Given the description of an element on the screen output the (x, y) to click on. 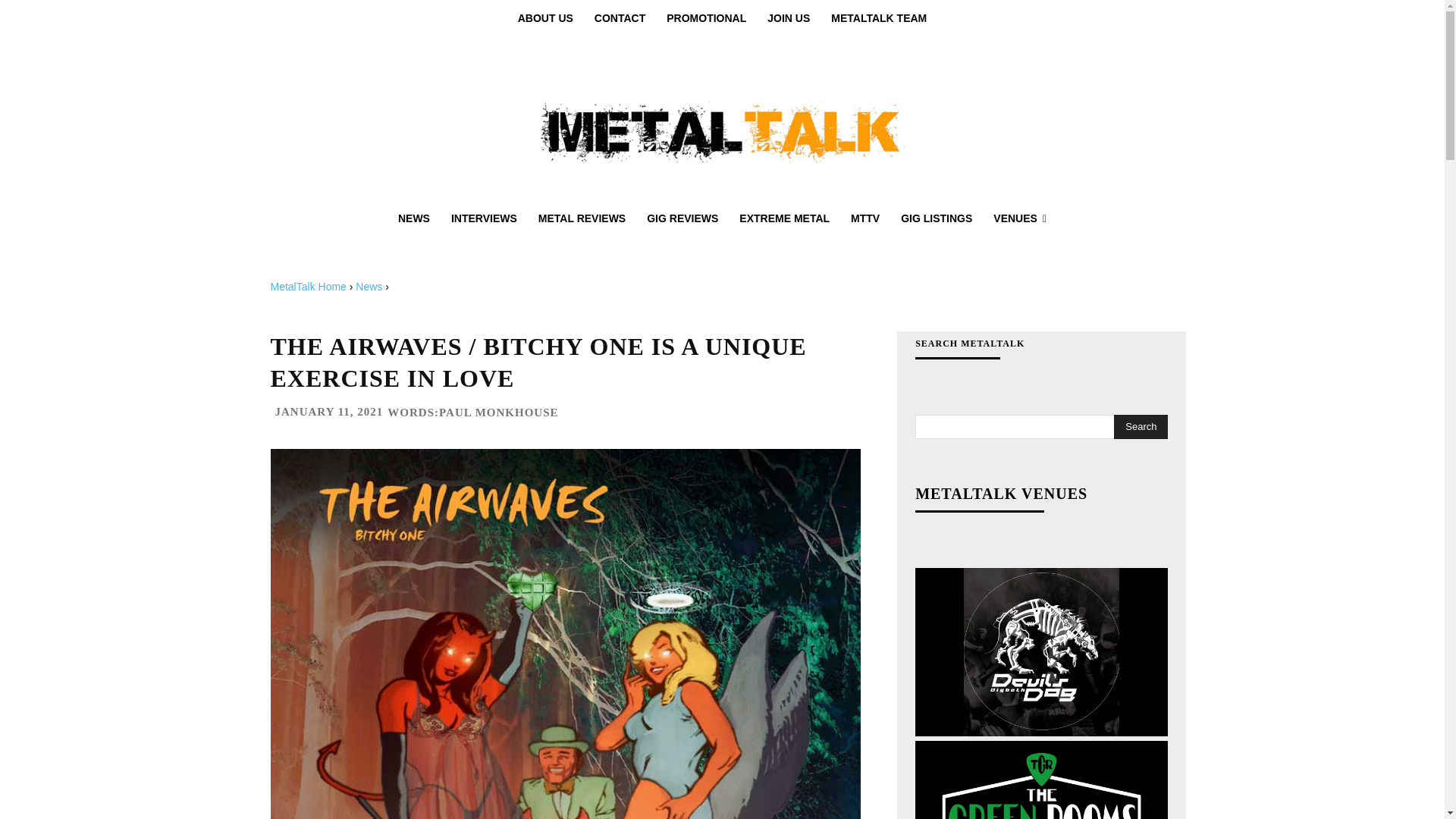
News (368, 286)
GIG REVIEWS (682, 217)
INTERVIEWS (484, 217)
MTTV (864, 217)
JOIN US (789, 18)
PROMOTIONAL (706, 18)
MetalTalk Home (307, 286)
CONTACT (619, 18)
EXTREME METAL (784, 217)
METAL REVIEWS (581, 217)
ABOUT US (544, 18)
VENUES (1019, 217)
GIG LISTINGS (935, 217)
NEWS (414, 217)
METALTALK TEAM (879, 18)
